Given the description of an element on the screen output the (x, y) to click on. 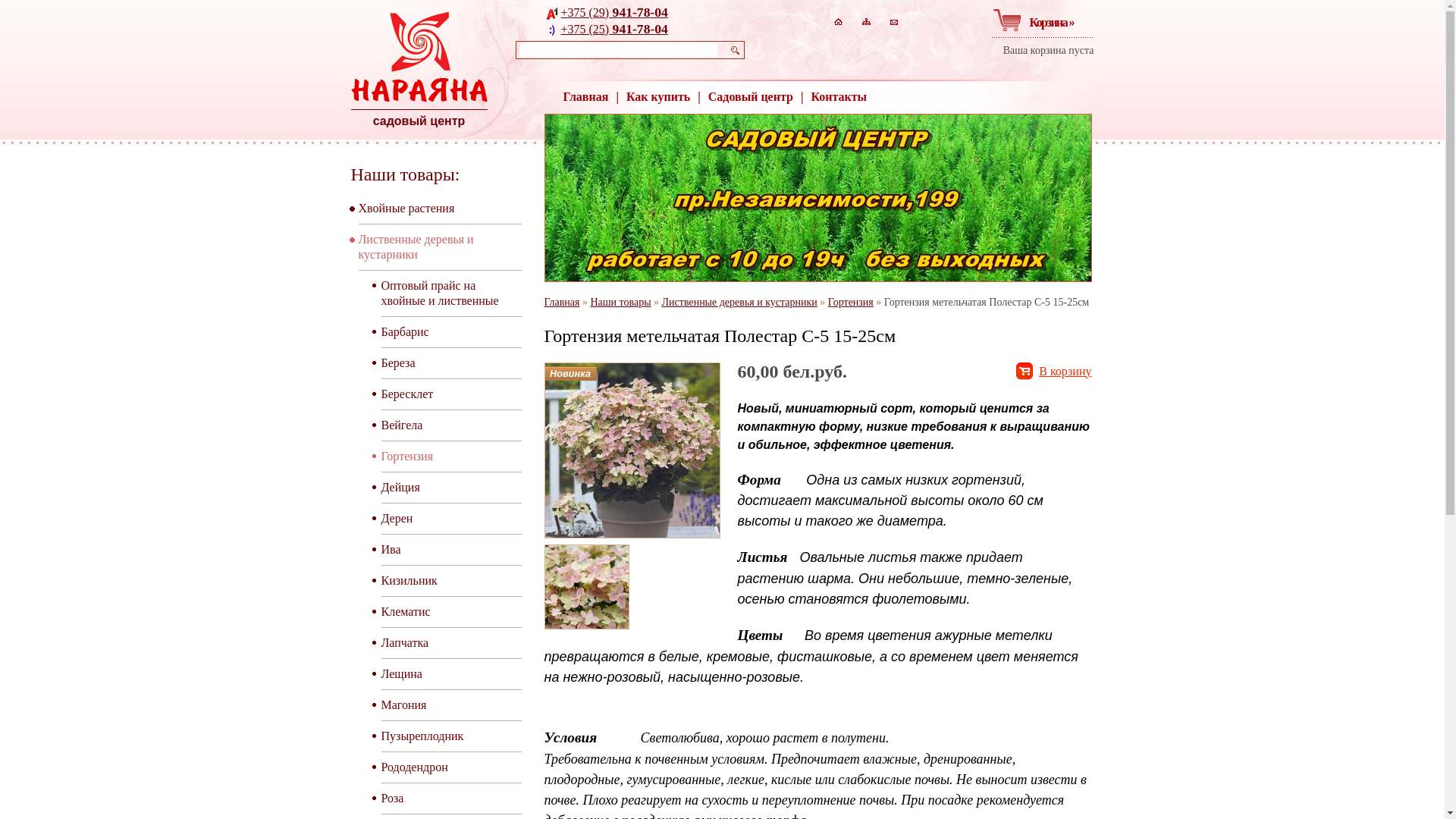
+375 (29) 941-78-04 Element type: text (614, 12)
+375 (25) 941-78-04 Element type: text (614, 28)
